Given the description of an element on the screen output the (x, y) to click on. 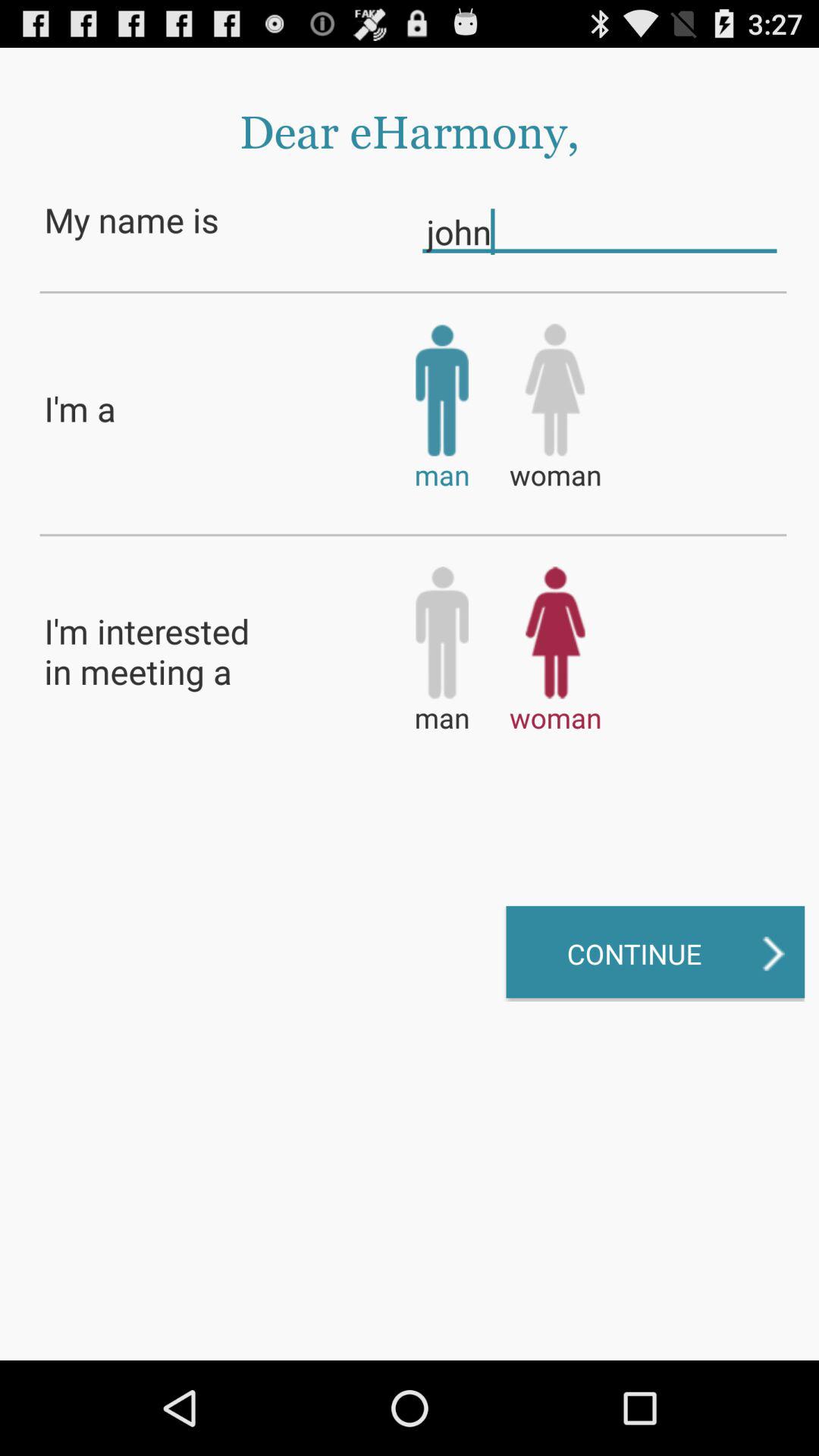
swipe until john item (599, 231)
